Given the description of an element on the screen output the (x, y) to click on. 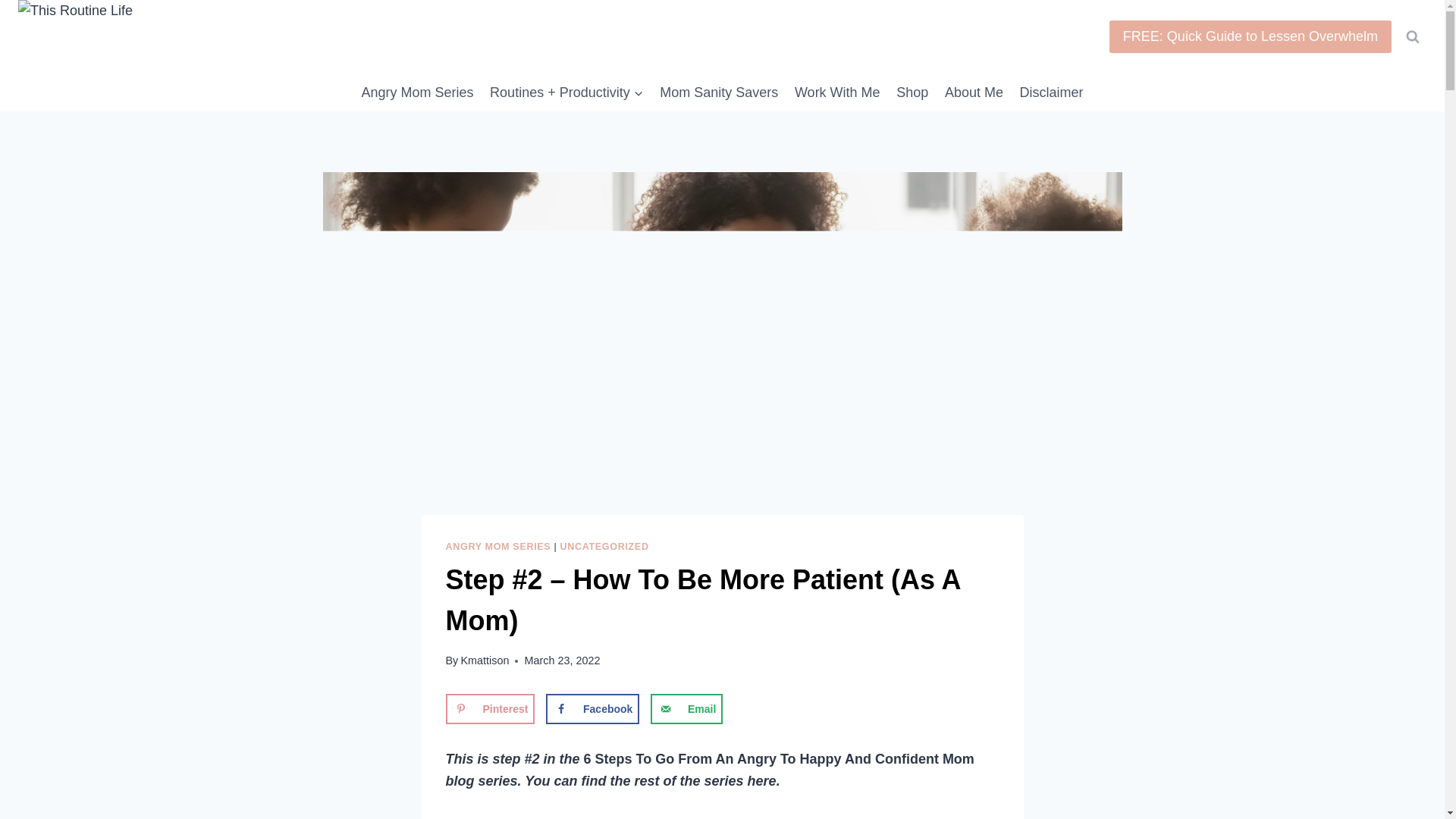
Pinterest (490, 708)
ANGRY MOM SERIES (498, 546)
UNCATEGORIZED (604, 546)
Kmattison (484, 660)
FREE: Quick Guide to Lessen Overwhelm (1250, 36)
Email (686, 708)
About Me (973, 92)
Disclaimer (1051, 92)
Send over email (686, 708)
Shop (912, 92)
